Given the description of an element on the screen output the (x, y) to click on. 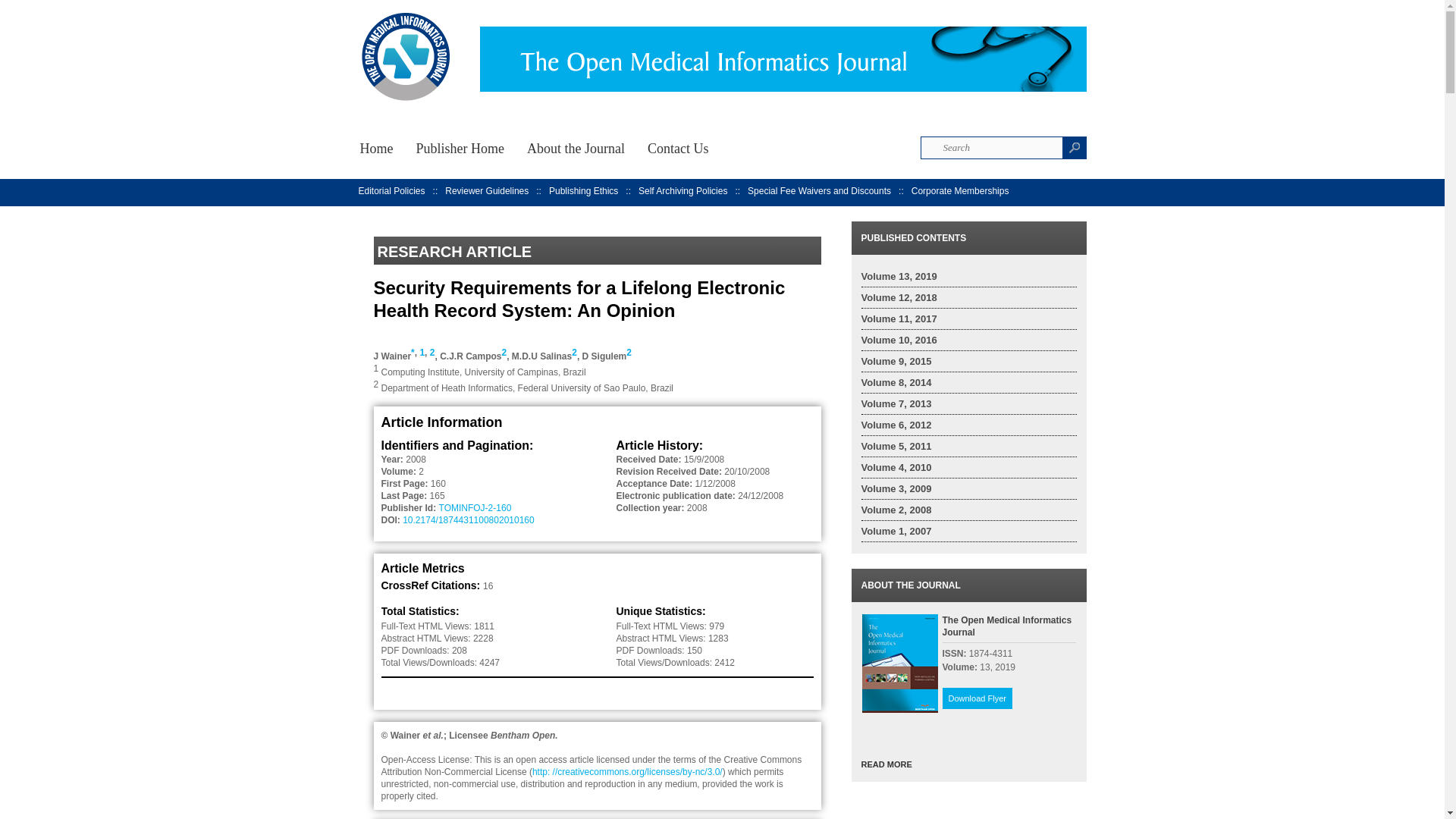
About the Journal (575, 146)
TOMINFOJ-2-160 (475, 507)
Self Archiving Policies (682, 190)
Reviewer Guidelines (486, 190)
Special Fee Waivers and Discounts (819, 190)
Corporate Memberships (960, 190)
Contact Us (678, 146)
Publishing Ethics (582, 190)
Editorial Policies (391, 190)
Publisher Home (458, 146)
